Given the description of an element on the screen output the (x, y) to click on. 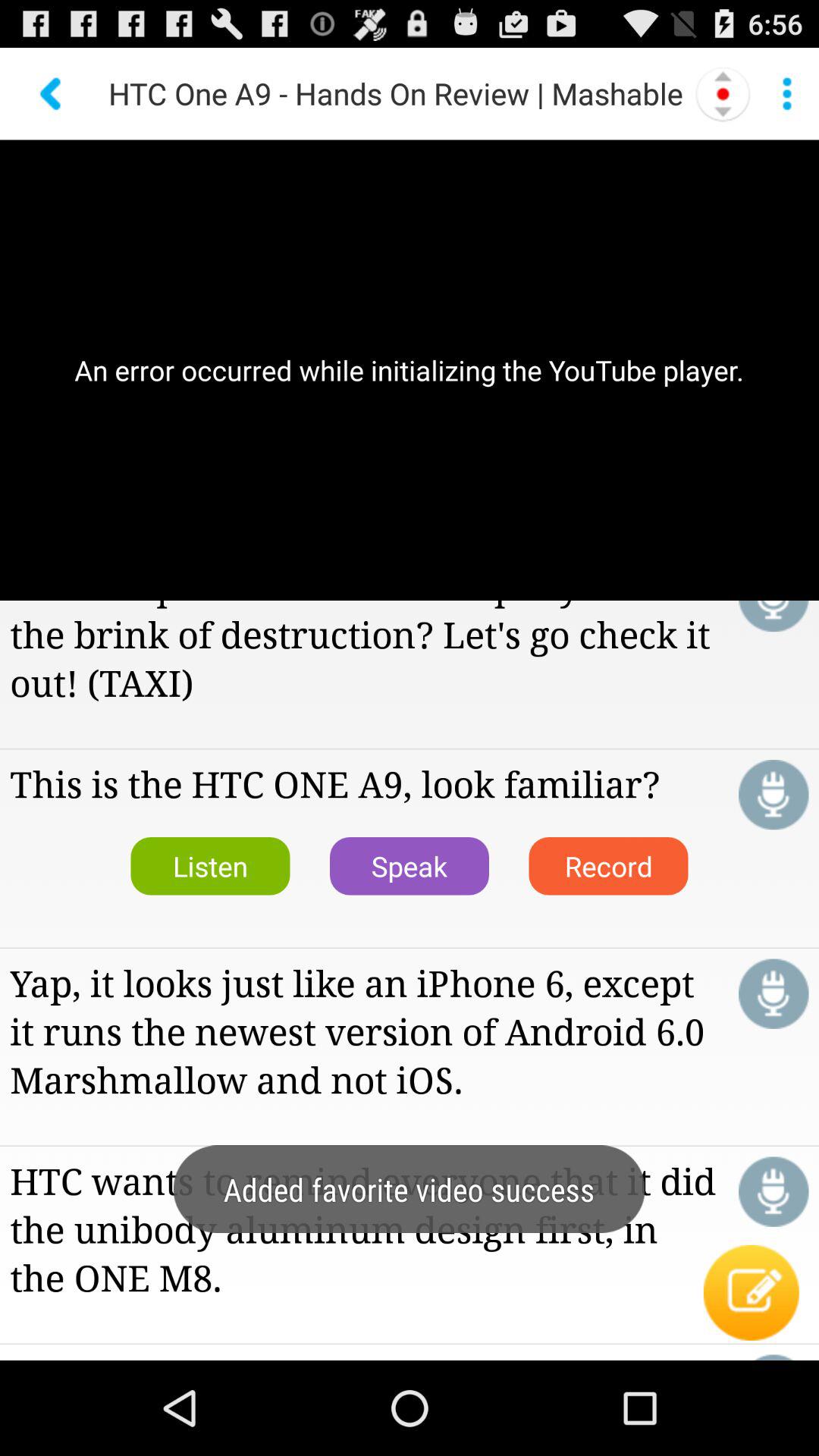
record button (773, 794)
